Given the description of an element on the screen output the (x, y) to click on. 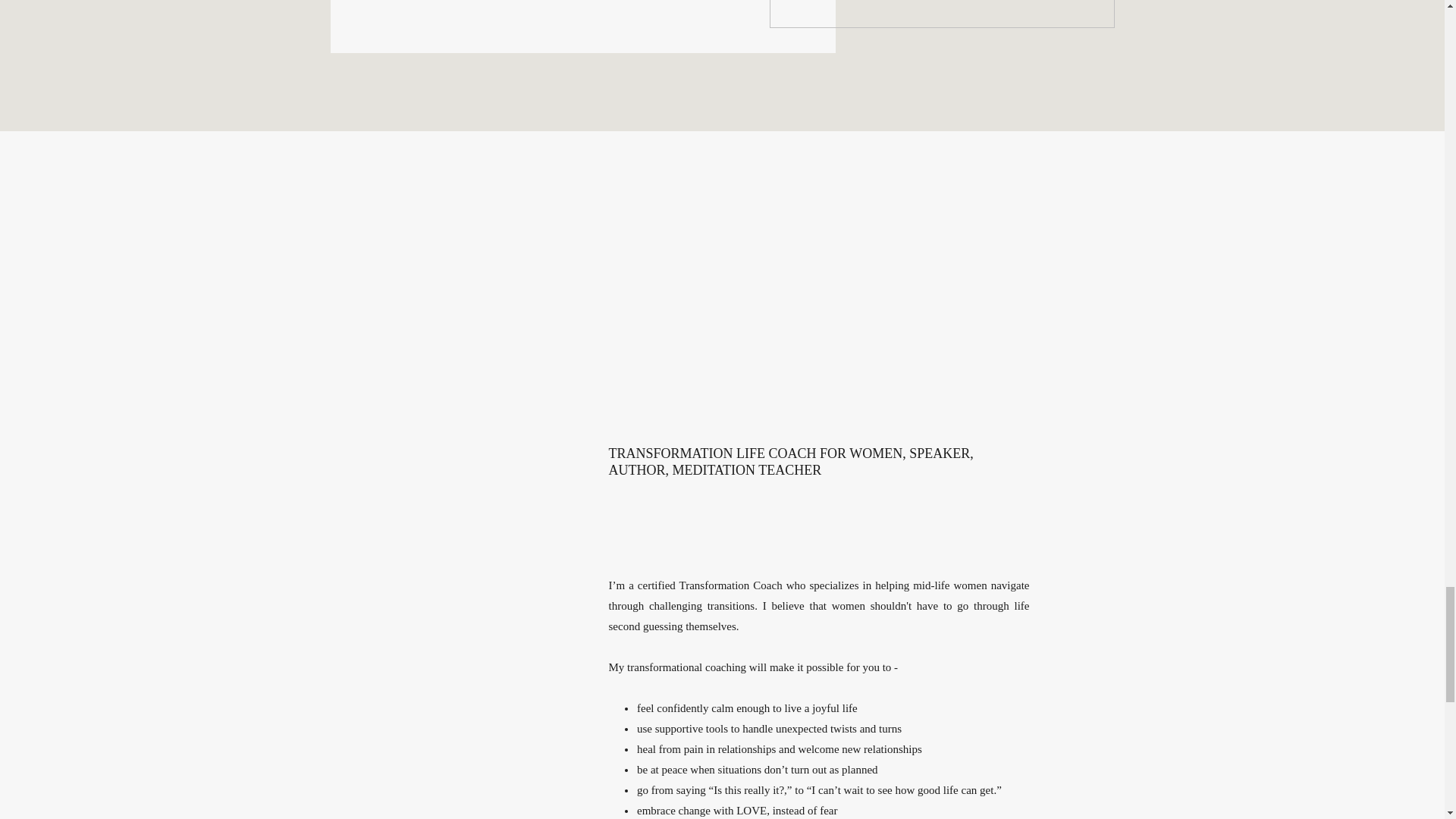
What do you want? (940, 13)
